Given the description of an element on the screen output the (x, y) to click on. 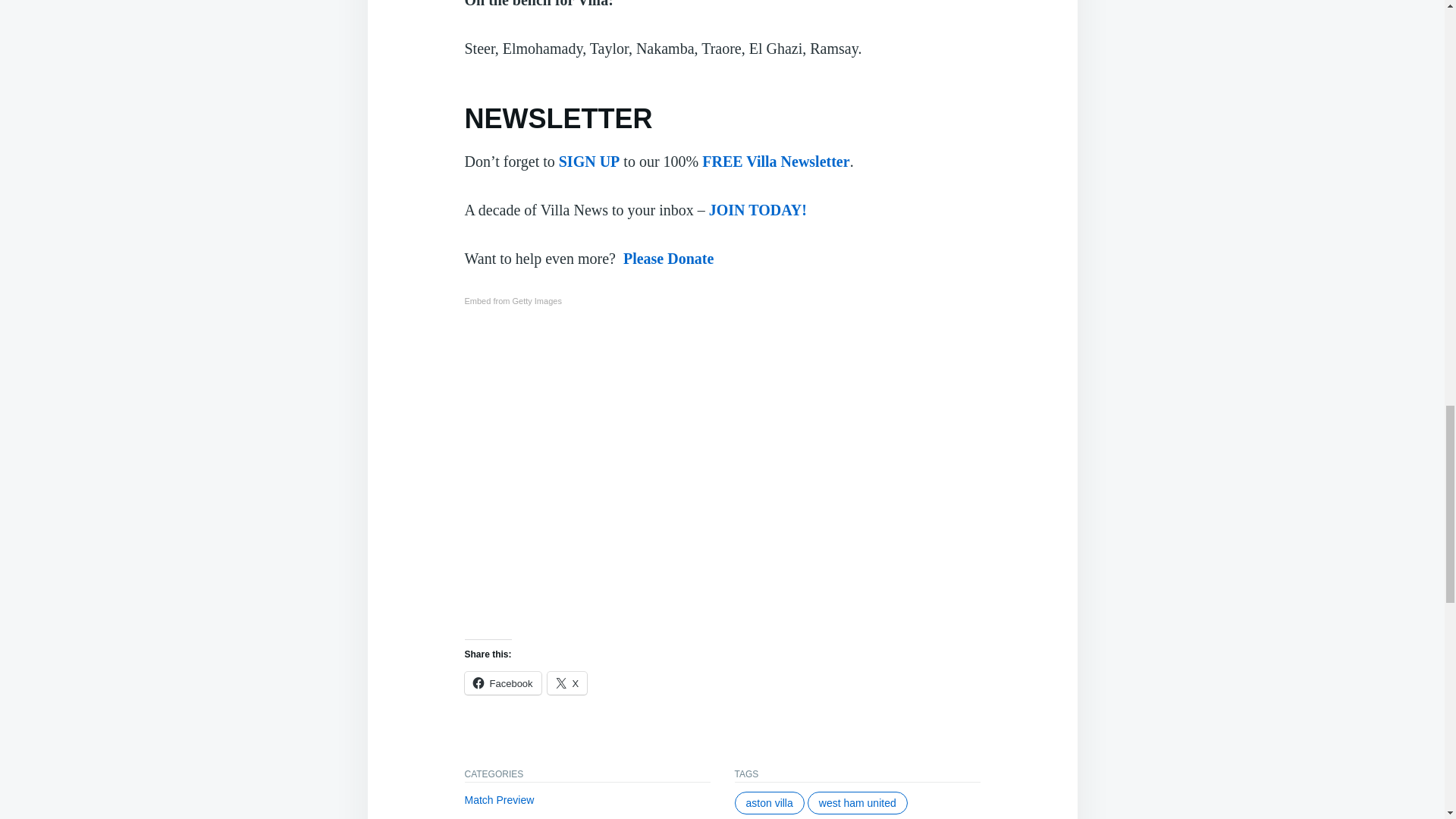
SIGN UP (589, 161)
Click to share on Facebook (502, 682)
Please Donate (668, 258)
JOIN TODAY! (757, 209)
Click to share on X (567, 682)
FREE Villa Newsletter (774, 161)
